Given the description of an element on the screen output the (x, y) to click on. 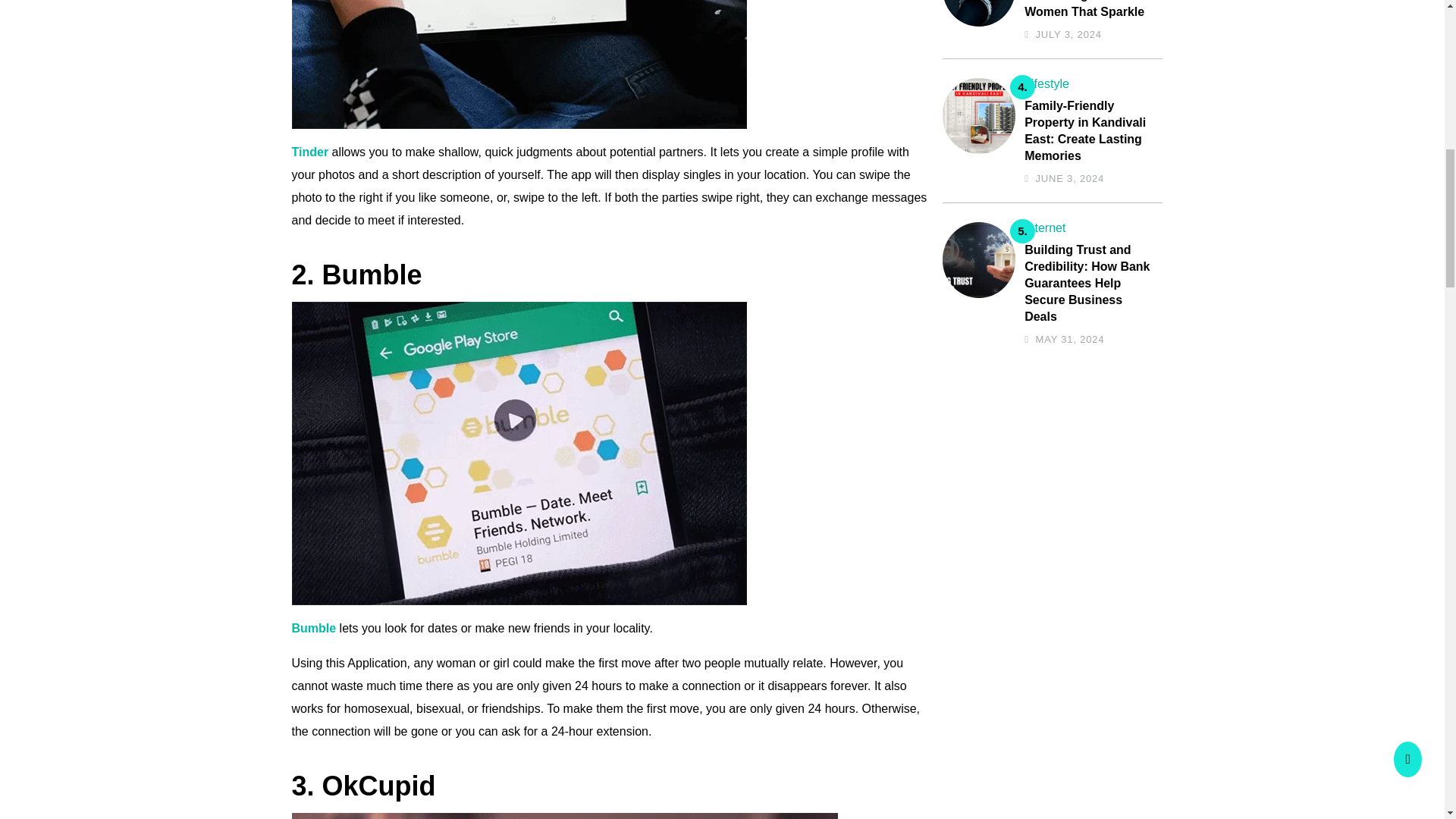
Shimmering Style: Silver Rings for Women That Sparkle (1089, 10)
Bumble (313, 627)
Tinder (310, 151)
Lifestyle (1046, 83)
